Given the description of an element on the screen output the (x, y) to click on. 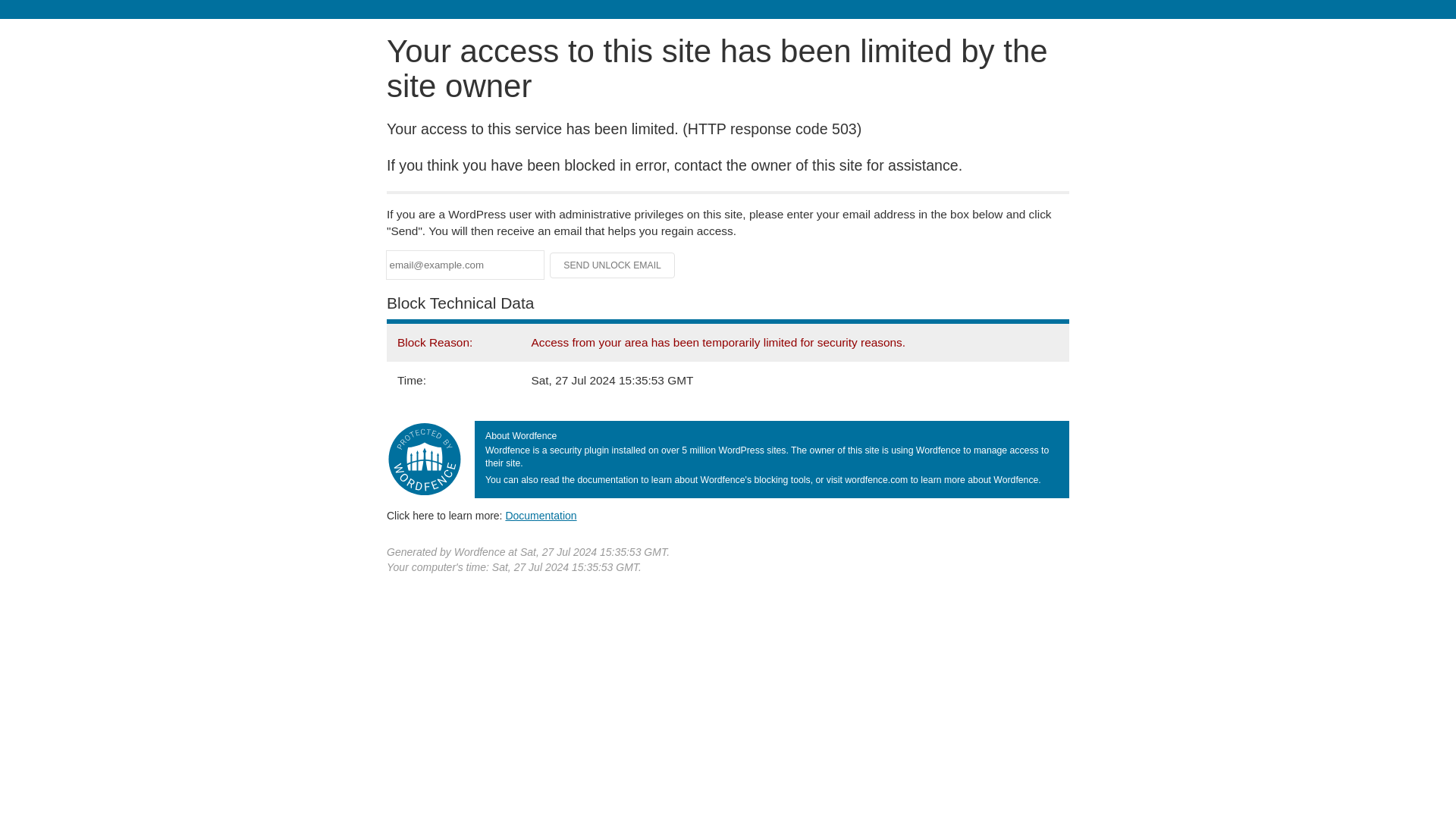
Documentation (540, 515)
Send Unlock Email (612, 265)
Send Unlock Email (612, 265)
